Given the description of an element on the screen output the (x, y) to click on. 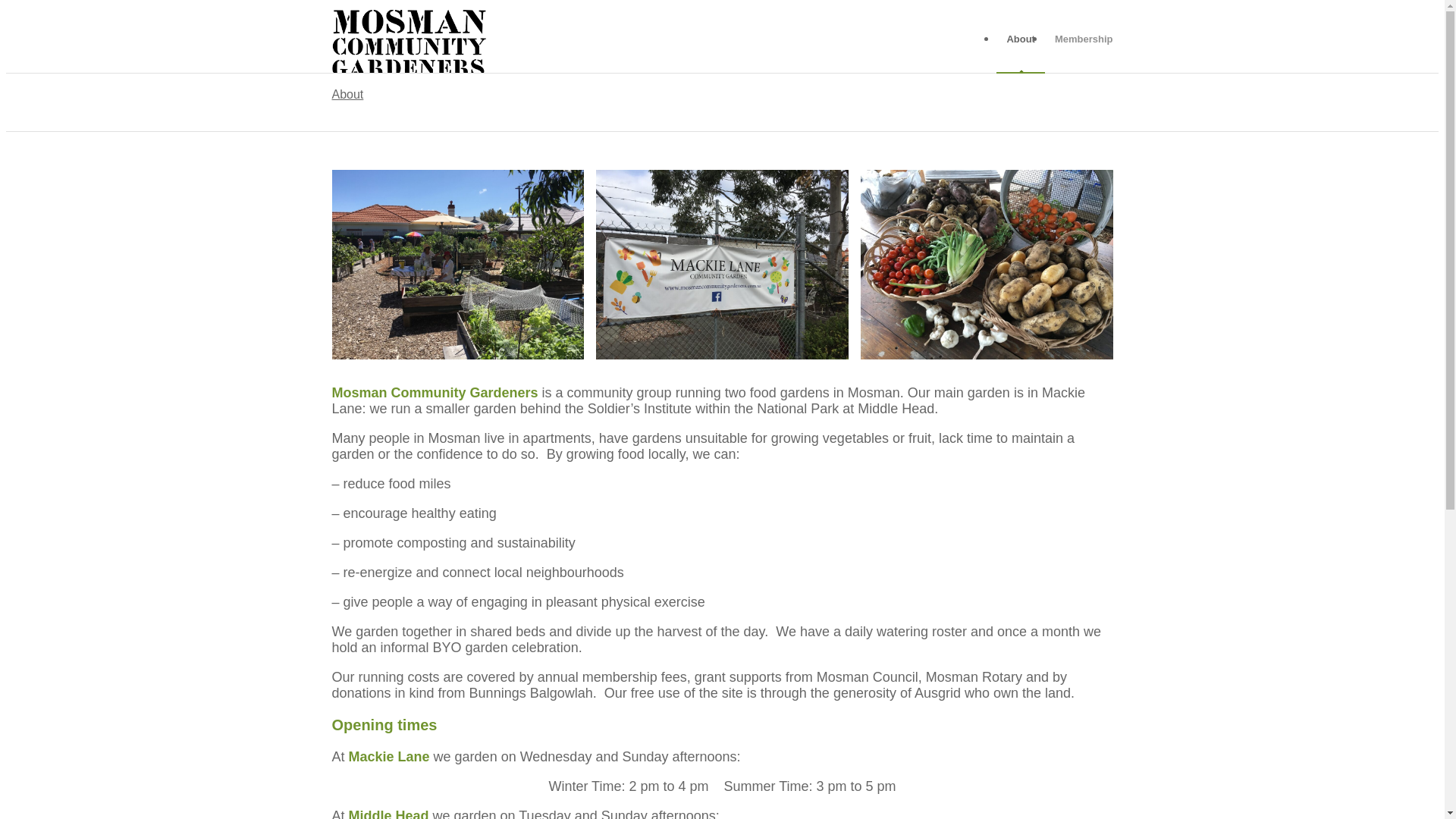
About Element type: text (1020, 39)
About Element type: text (348, 93)
Membership Element type: text (1078, 39)
